Given the description of an element on the screen output the (x, y) to click on. 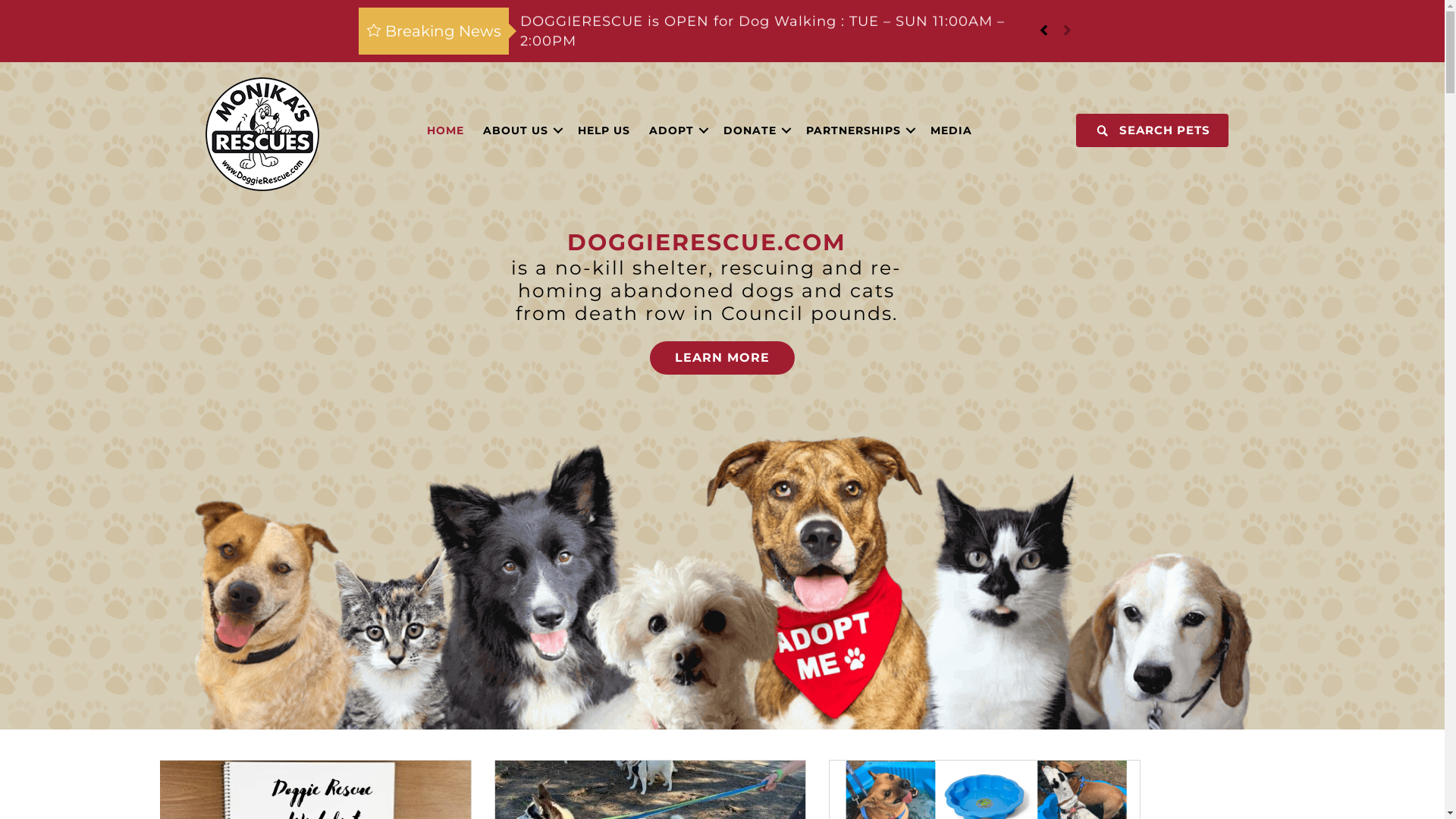
Doggie-Monika-Rescue-Adopt-a-Pet-img (1) Element type: hover (721, 582)
ABOUT US Element type: text (520, 130)
DONATE Element type: text (755, 130)
MEDIA Element type: text (951, 130)
HELP US Element type: text (603, 130)
HOME Element type: text (445, 130)
ADOPT Element type: text (676, 130)
Meet our New Child Friendly Dogs SEP 2023! Element type: text (769, 20)
LEARN MORE Element type: text (721, 357)
SEARCH PETS Element type: text (1152, 130)
PARTNERSHIPS Element type: text (858, 130)
doggie-rescure-logo (1) Element type: hover (262, 134)
